Given the description of an element on the screen output the (x, y) to click on. 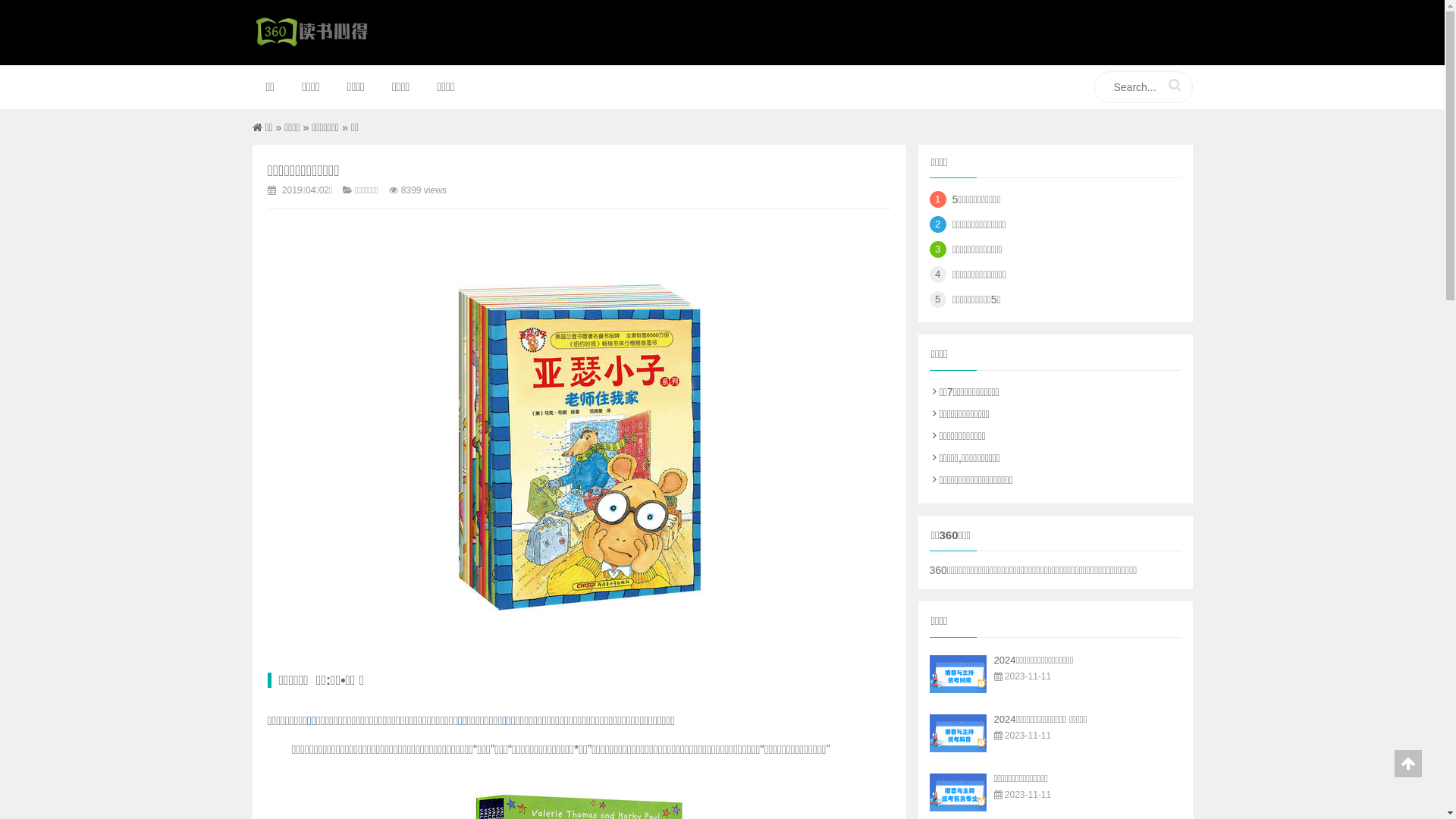
1.jpg Element type: hover (578, 447)
